Given the description of an element on the screen output the (x, y) to click on. 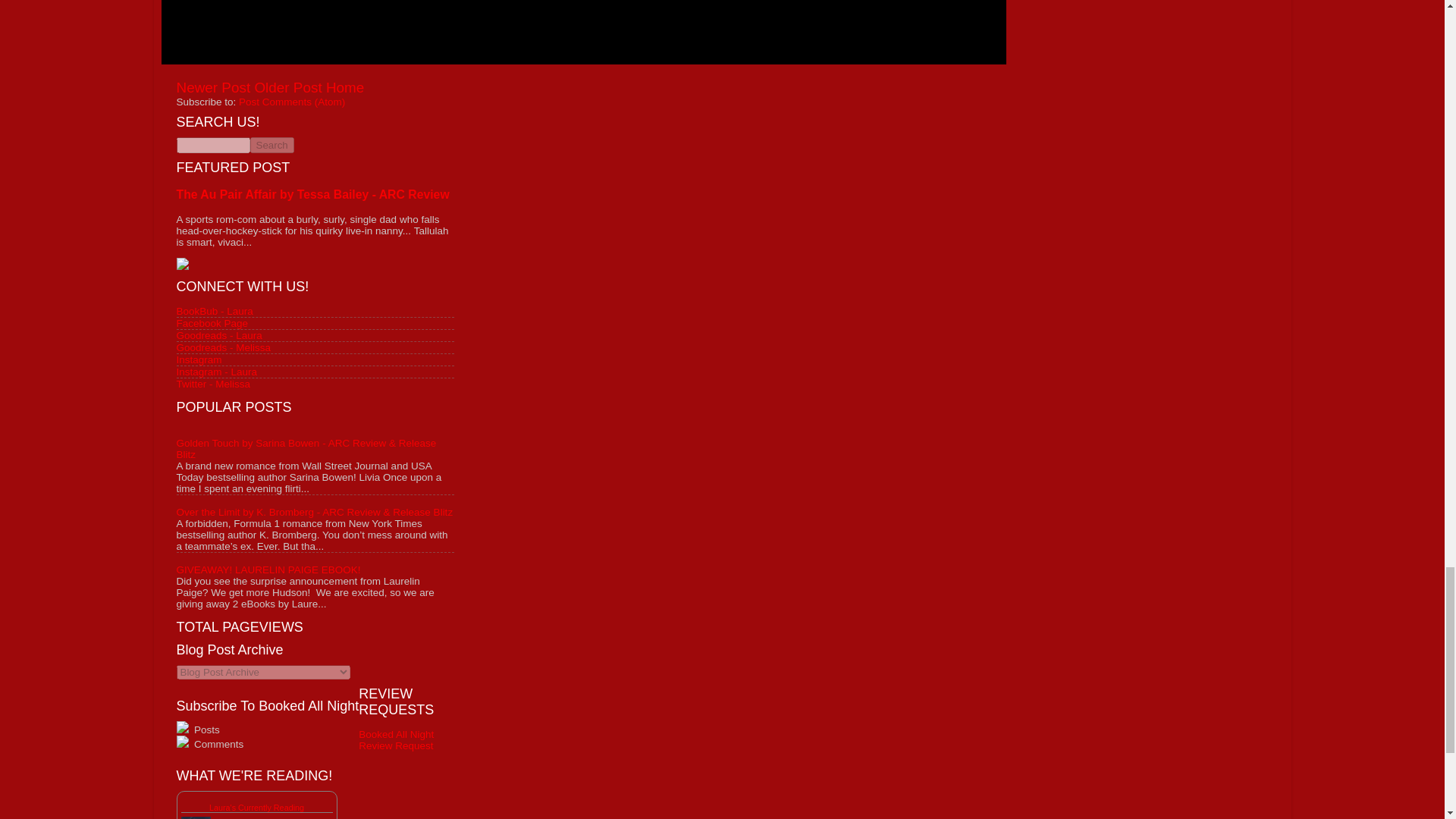
Home (345, 87)
search (272, 145)
Search (272, 145)
The Au Pair Affair by Tessa Bailey - ARC Review (312, 194)
search (212, 145)
Search (272, 145)
Newer Post (213, 87)
Older Post (287, 87)
Search (272, 145)
Newer Post (213, 87)
Facebook Page (211, 322)
BookBub - Laura (213, 310)
Older Post (287, 87)
